Given the description of an element on the screen output the (x, y) to click on. 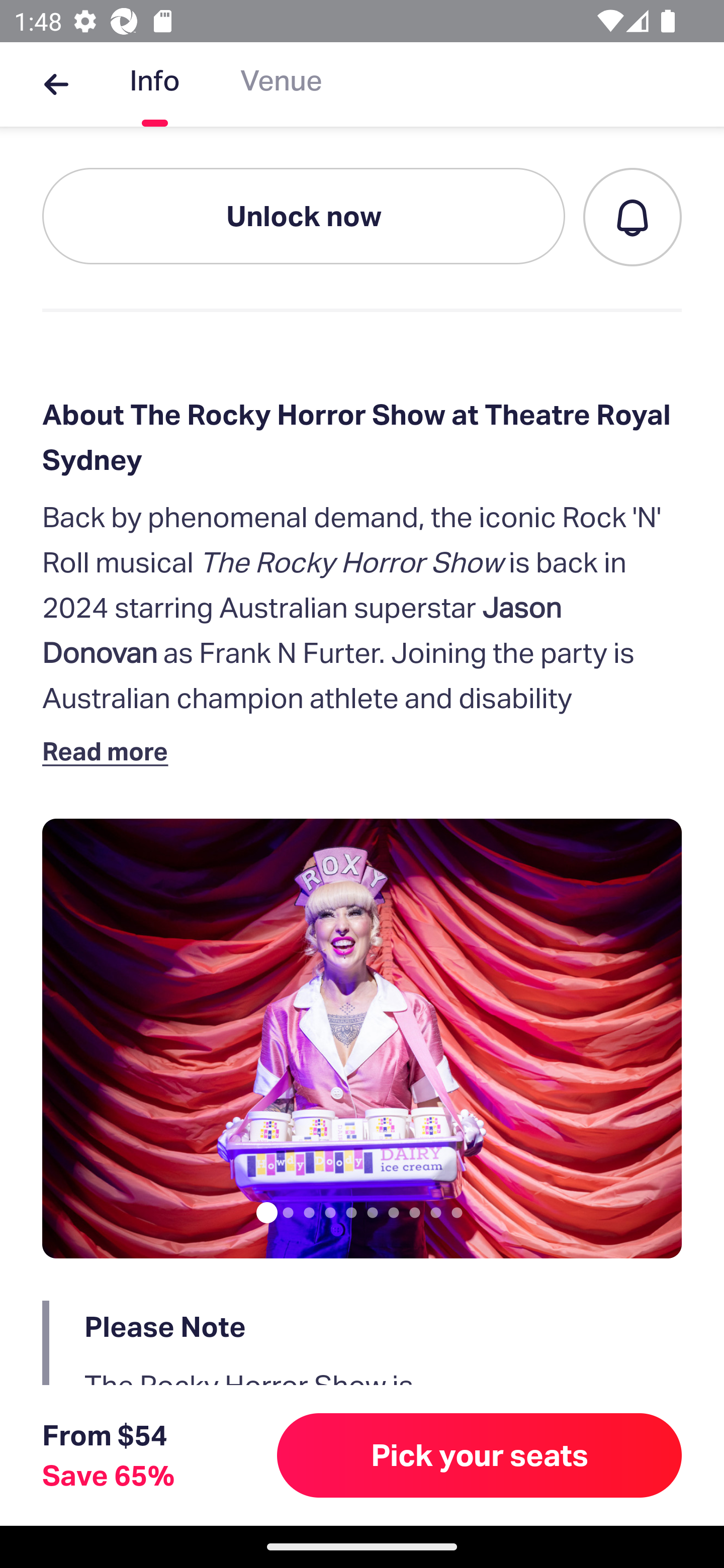
Venue (280, 84)
Unlock now (303, 215)
Read more (109, 750)
Pick your seats (479, 1454)
